Given the description of an element on the screen output the (x, y) to click on. 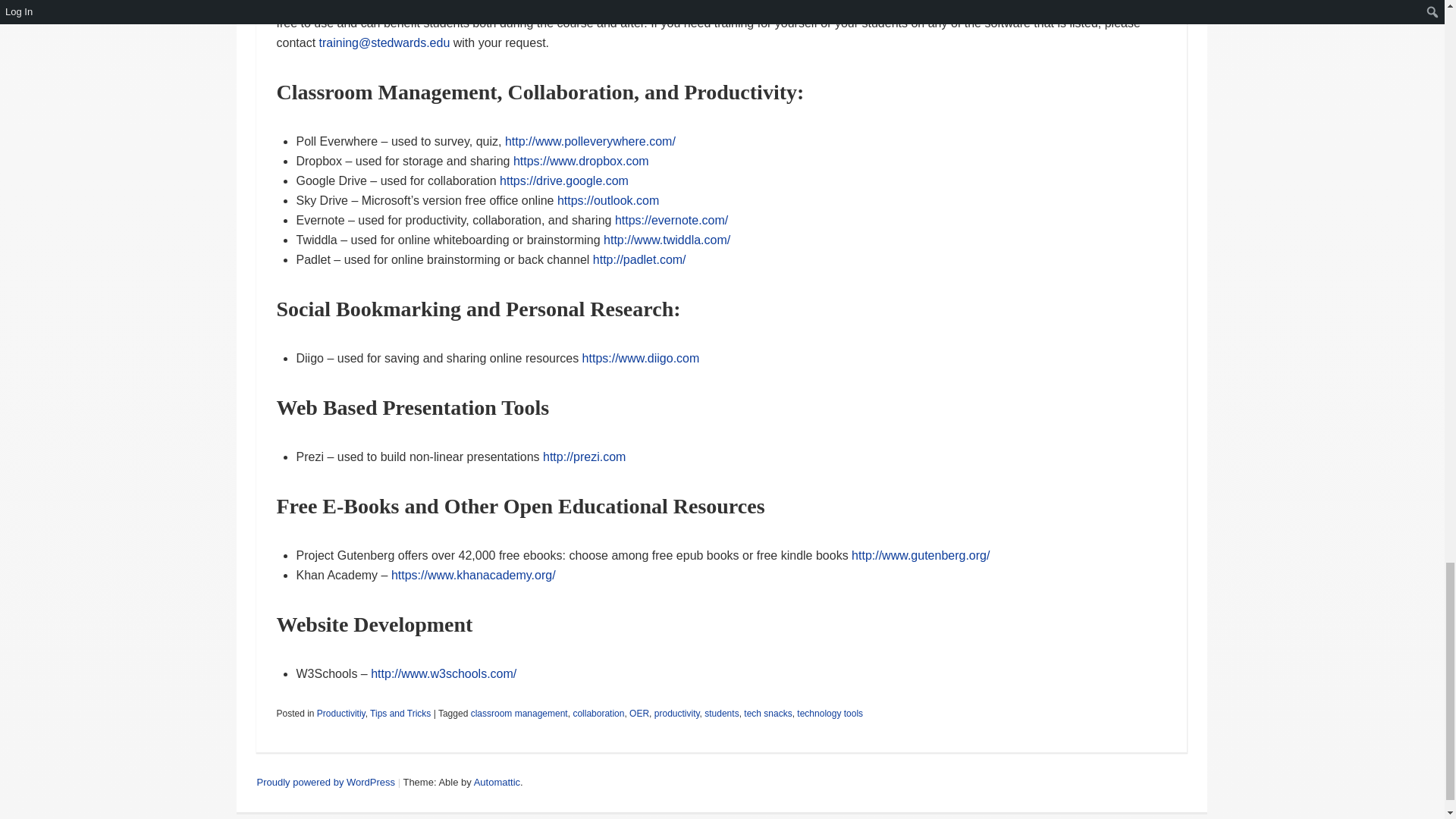
A Semantic Personal Publishing Platform (325, 781)
